Given the description of an element on the screen output the (x, y) to click on. 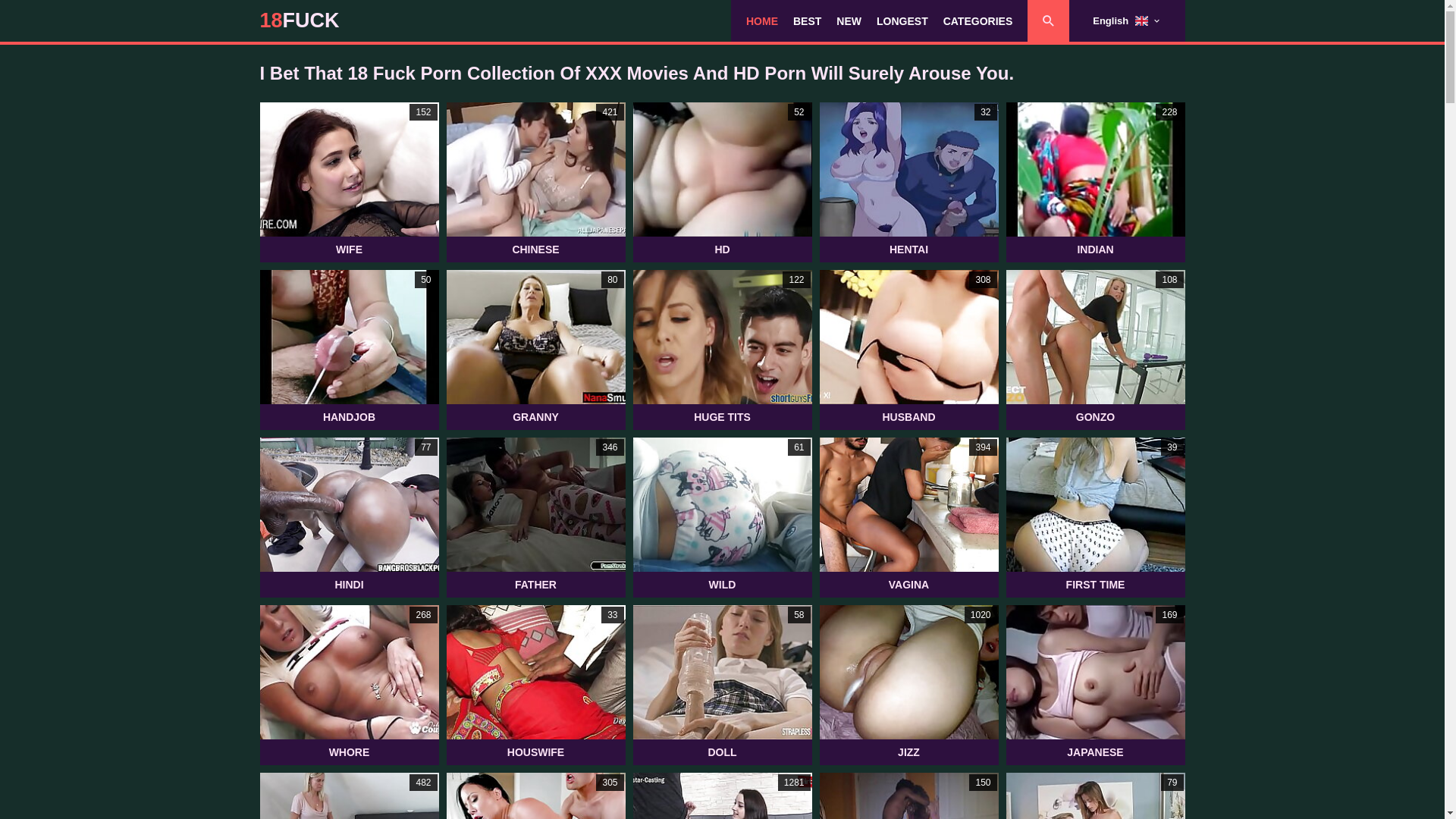
108
GONZO Element type: text (1094, 349)
50
HANDJOB Element type: text (348, 349)
394
VAGINA Element type: text (908, 517)
18FUCK Element type: text (298, 20)
English Element type: text (1126, 20)
CATEGORIES Element type: text (978, 21)
346
FATHER Element type: text (534, 517)
Search Element type: text (998, 20)
268
WHORE Element type: text (348, 685)
80
GRANNY Element type: text (534, 349)
308
HUSBAND Element type: text (908, 349)
32
HENTAI Element type: text (908, 182)
BEST Element type: text (807, 21)
421
CHINESE Element type: text (534, 182)
1020
JIZZ Element type: text (908, 685)
152
WIFE Element type: text (348, 182)
77
HINDI Element type: text (348, 517)
33
HOUSWIFE Element type: text (534, 685)
52
HD Element type: text (721, 182)
61
WILD Element type: text (721, 517)
169
JAPANESE Element type: text (1094, 685)
NEW Element type: text (848, 21)
HOME Element type: text (762, 21)
39
FIRST TIME Element type: text (1094, 517)
122
HUGE TITS Element type: text (721, 349)
LONGEST Element type: text (902, 21)
228
INDIAN Element type: text (1094, 182)
58
DOLL Element type: text (721, 685)
